Given the description of an element on the screen output the (x, y) to click on. 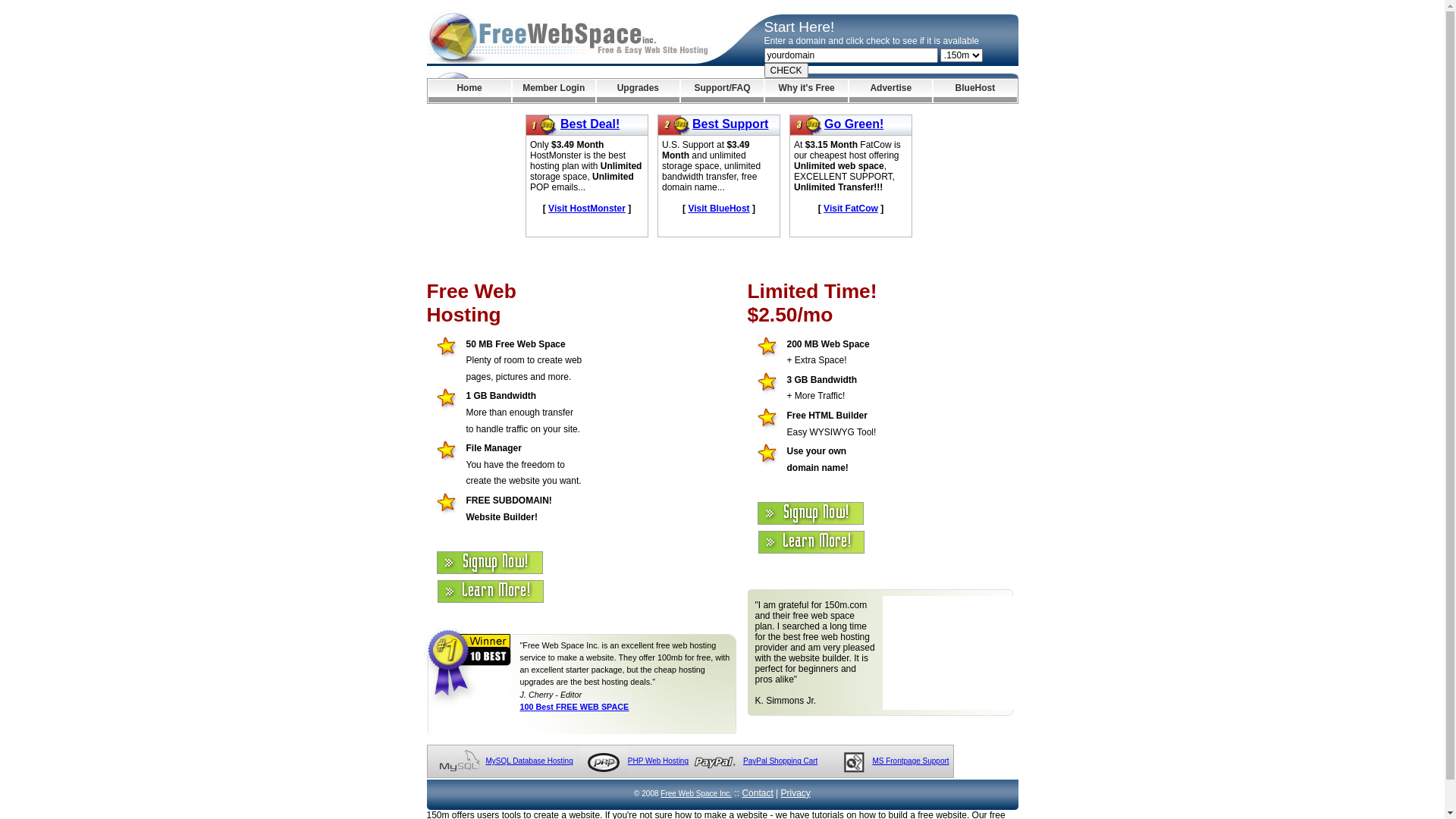
BlueHost Element type: text (974, 90)
Member Login Element type: text (553, 90)
Advertise Element type: text (890, 90)
Support/FAQ Element type: text (721, 90)
PayPal Shopping Cart Element type: text (780, 760)
100 Best FREE WEB SPACE Element type: text (574, 706)
MS Frontpage Support Element type: text (910, 760)
Free Web Space Inc. Element type: text (695, 793)
Home Element type: text (468, 90)
CHECK Element type: text (786, 70)
Contact Element type: text (756, 792)
Privacy Element type: text (795, 792)
Upgrades Element type: text (637, 90)
MySQL Database Hosting Element type: text (528, 760)
PHP Web Hosting Element type: text (657, 760)
Why it's Free Element type: text (806, 90)
